Given the description of an element on the screen output the (x, y) to click on. 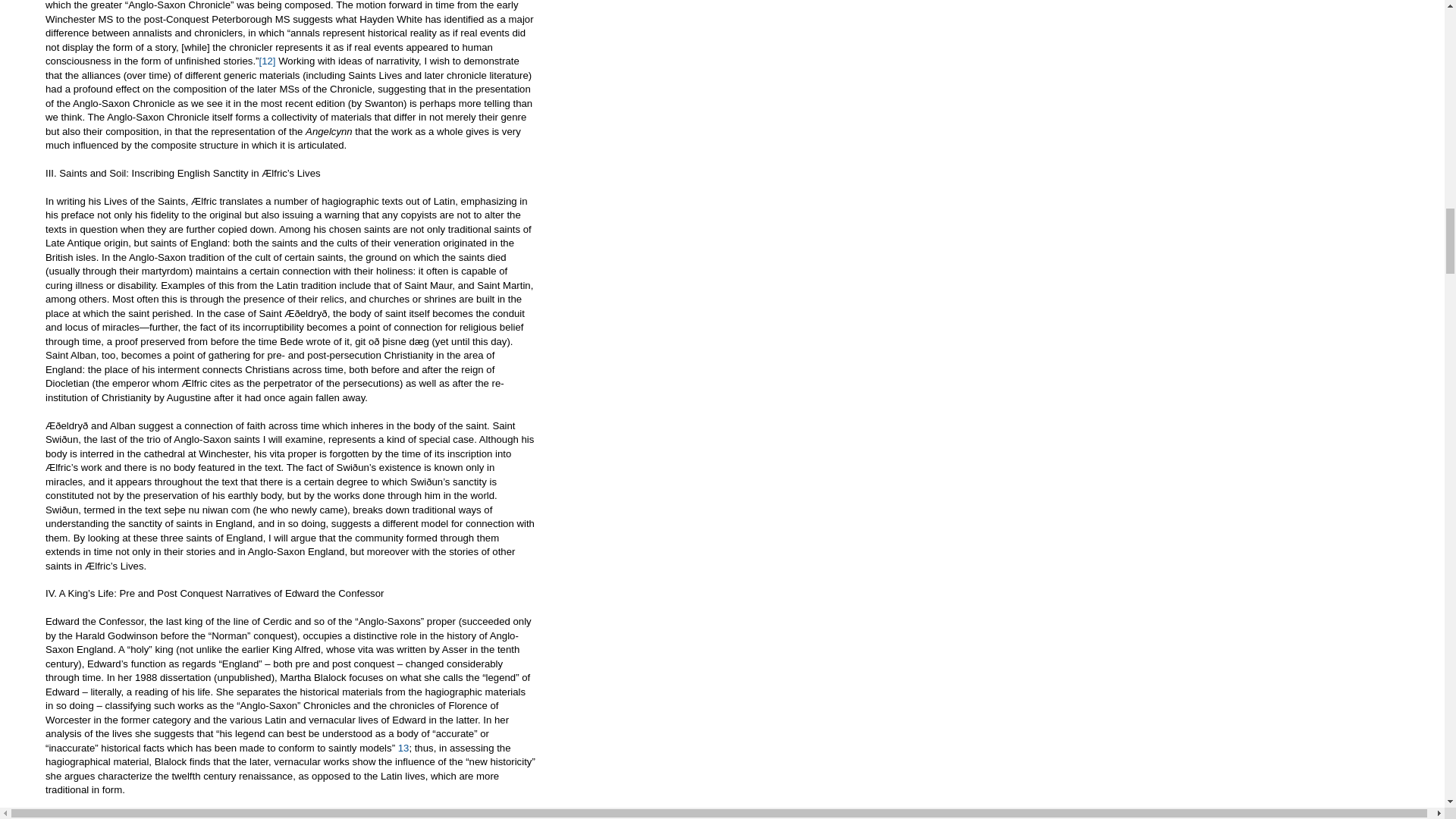
13 (403, 747)
